Given the description of an element on the screen output the (x, y) to click on. 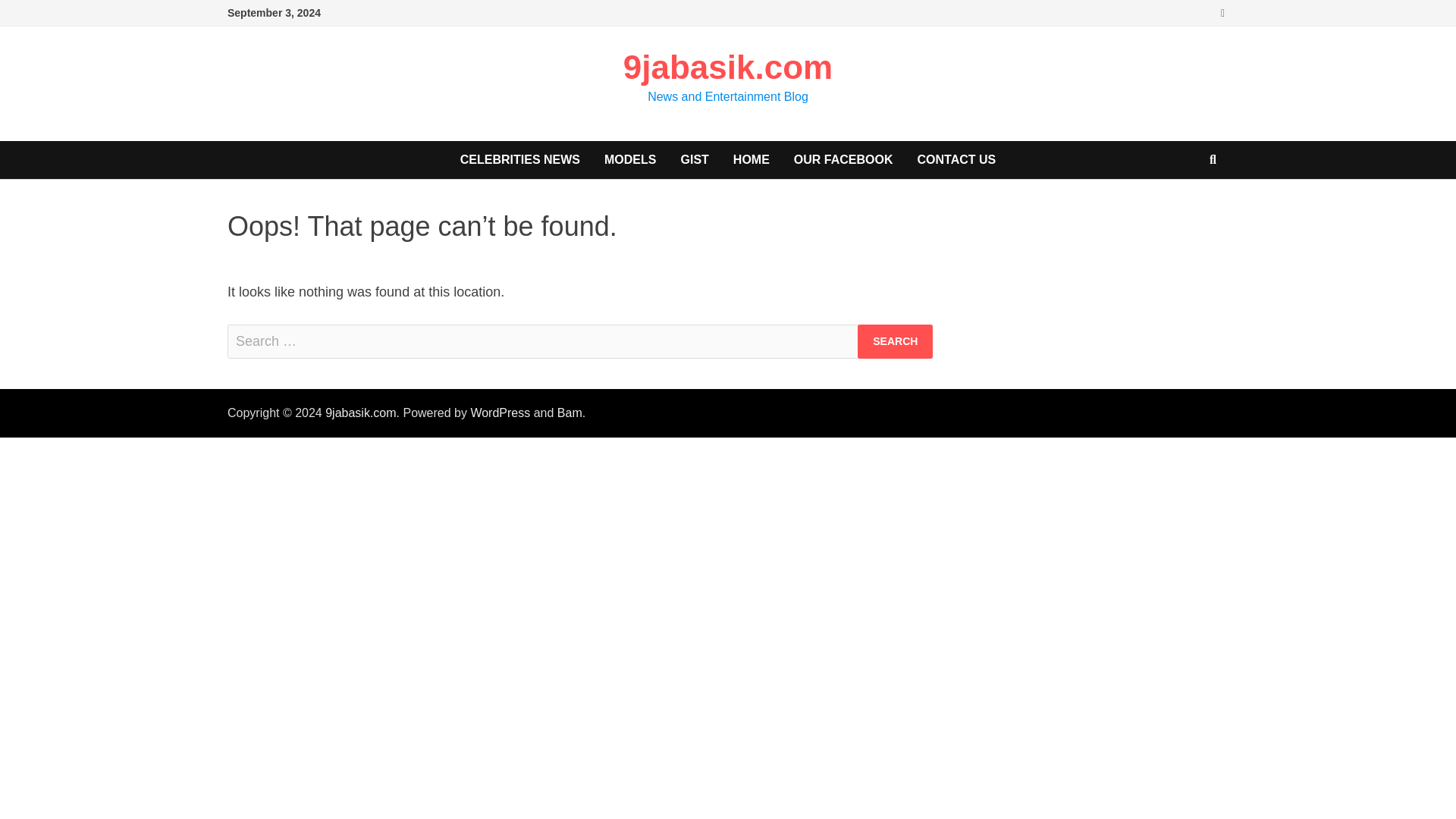
Search (895, 341)
CELEBRITIES NEWS (520, 159)
GIST (694, 159)
9jabasik.com (727, 66)
Search (895, 341)
CONTACT US (957, 159)
9jabasik.com (360, 412)
Bam (569, 412)
MODELS (630, 159)
OUR FACEBOOK (843, 159)
